Given the description of an element on the screen output the (x, y) to click on. 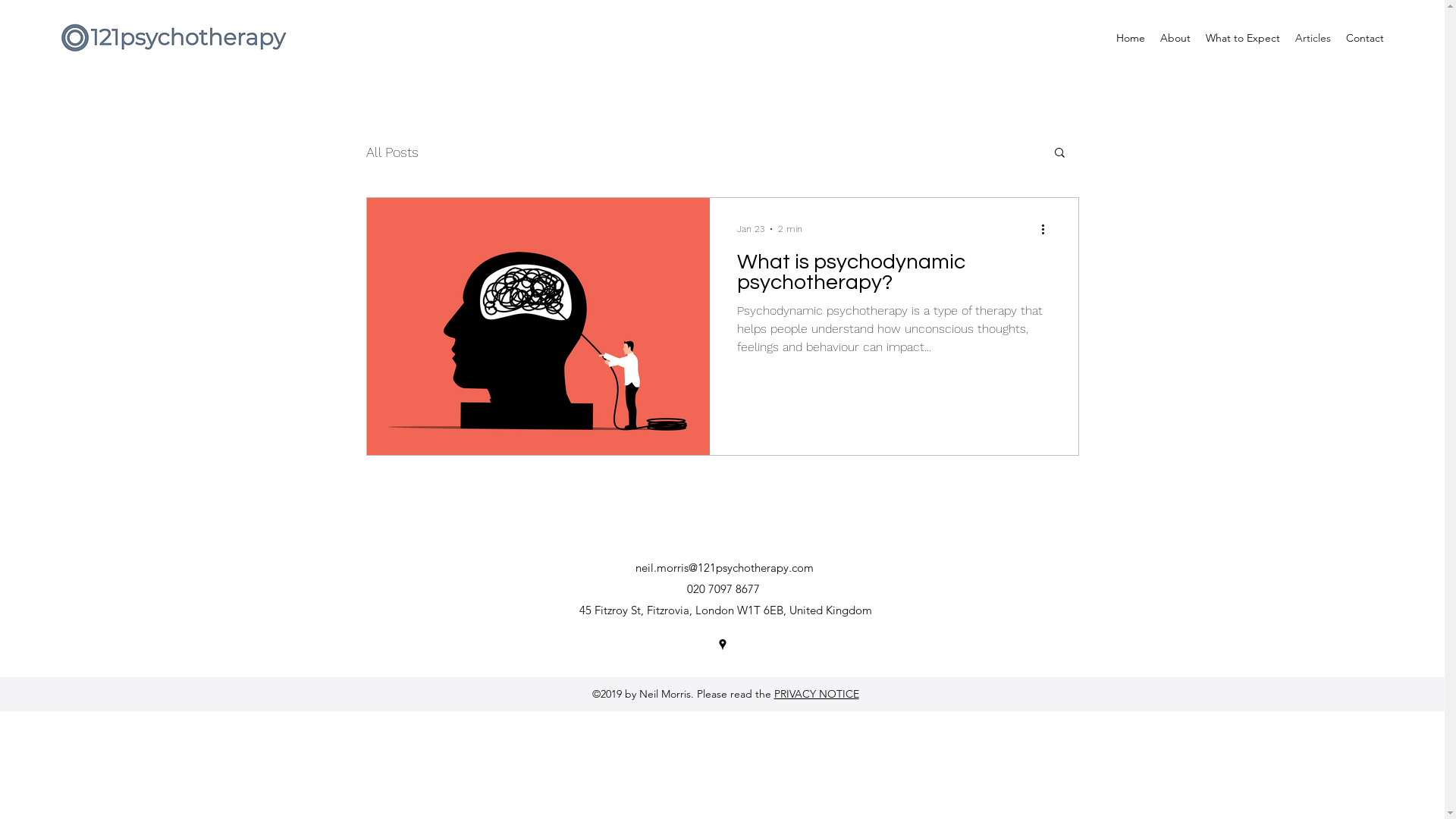
Home Element type: text (1130, 37)
Contact Element type: text (1364, 37)
neil.morris@121psychotherapy.com Element type: text (724, 567)
What to Expect Element type: text (1242, 37)
What is psychodynamic psychotherapy? Element type: text (894, 276)
PRIVACY NOTICE Element type: text (815, 693)
Articles Element type: text (1312, 37)
All Posts Element type: text (391, 152)
About Element type: text (1175, 37)
